Given the description of an element on the screen output the (x, y) to click on. 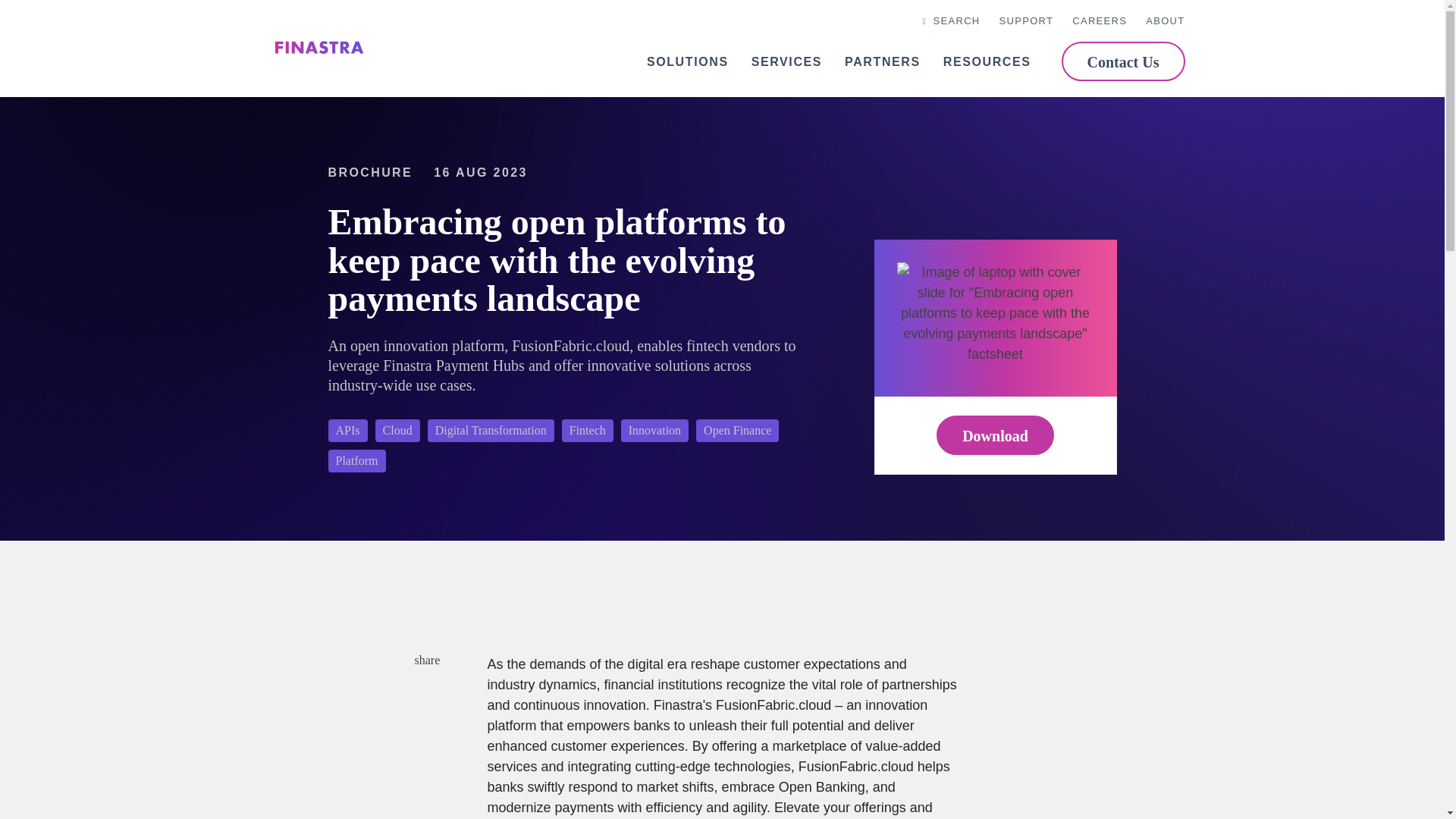
SOLUTIONS (687, 61)
SUPPORT (1026, 21)
CAREERS (1098, 21)
SEARCH (949, 21)
ABOUT (1165, 21)
